Given the description of an element on the screen output the (x, y) to click on. 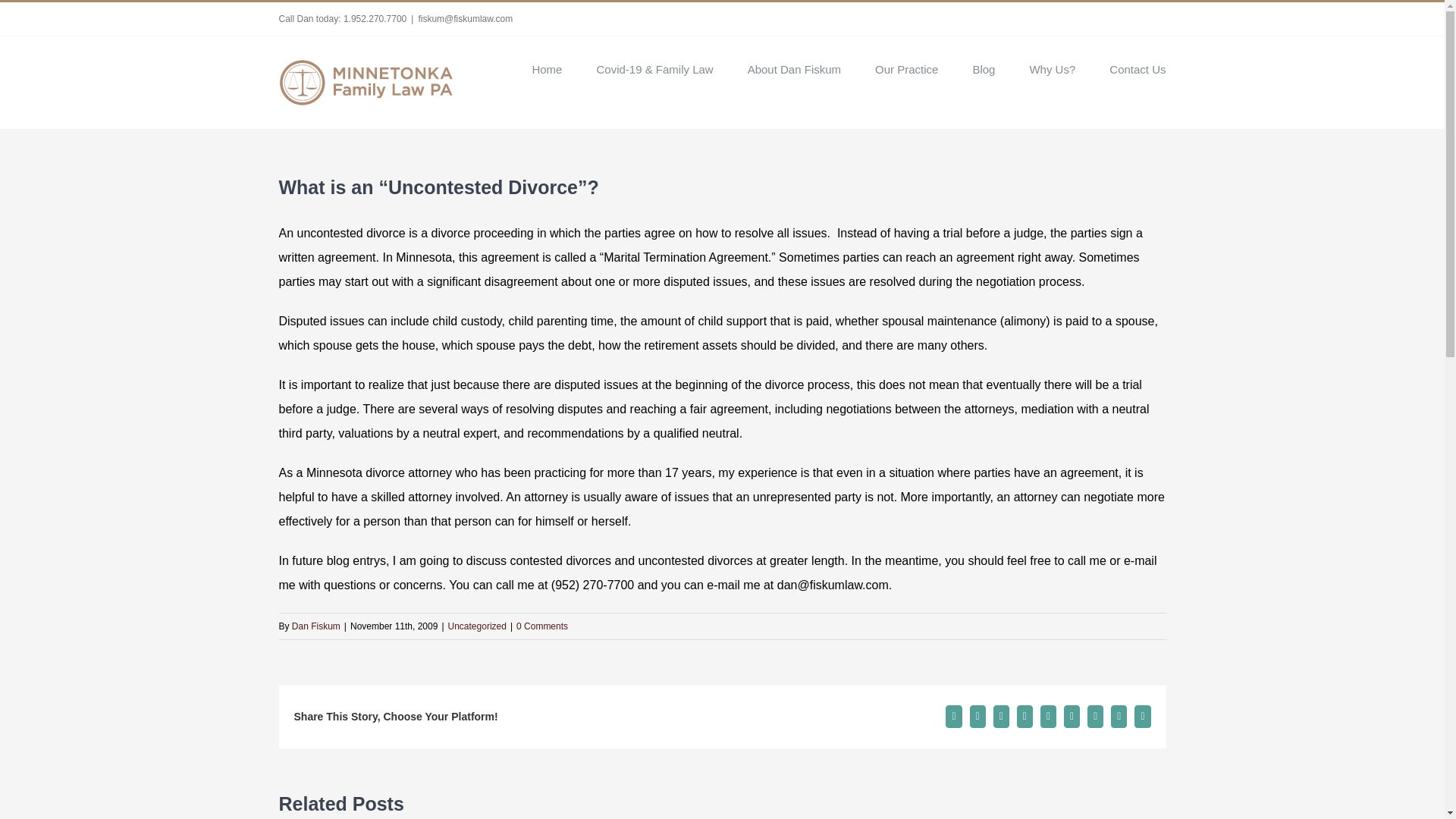
About Dan Fiskum (794, 67)
Dan Fiskum (316, 625)
Posts by Dan Fiskum (316, 625)
Our Practice (906, 67)
0 Comments (541, 625)
Uncategorized (477, 625)
